Given the description of an element on the screen output the (x, y) to click on. 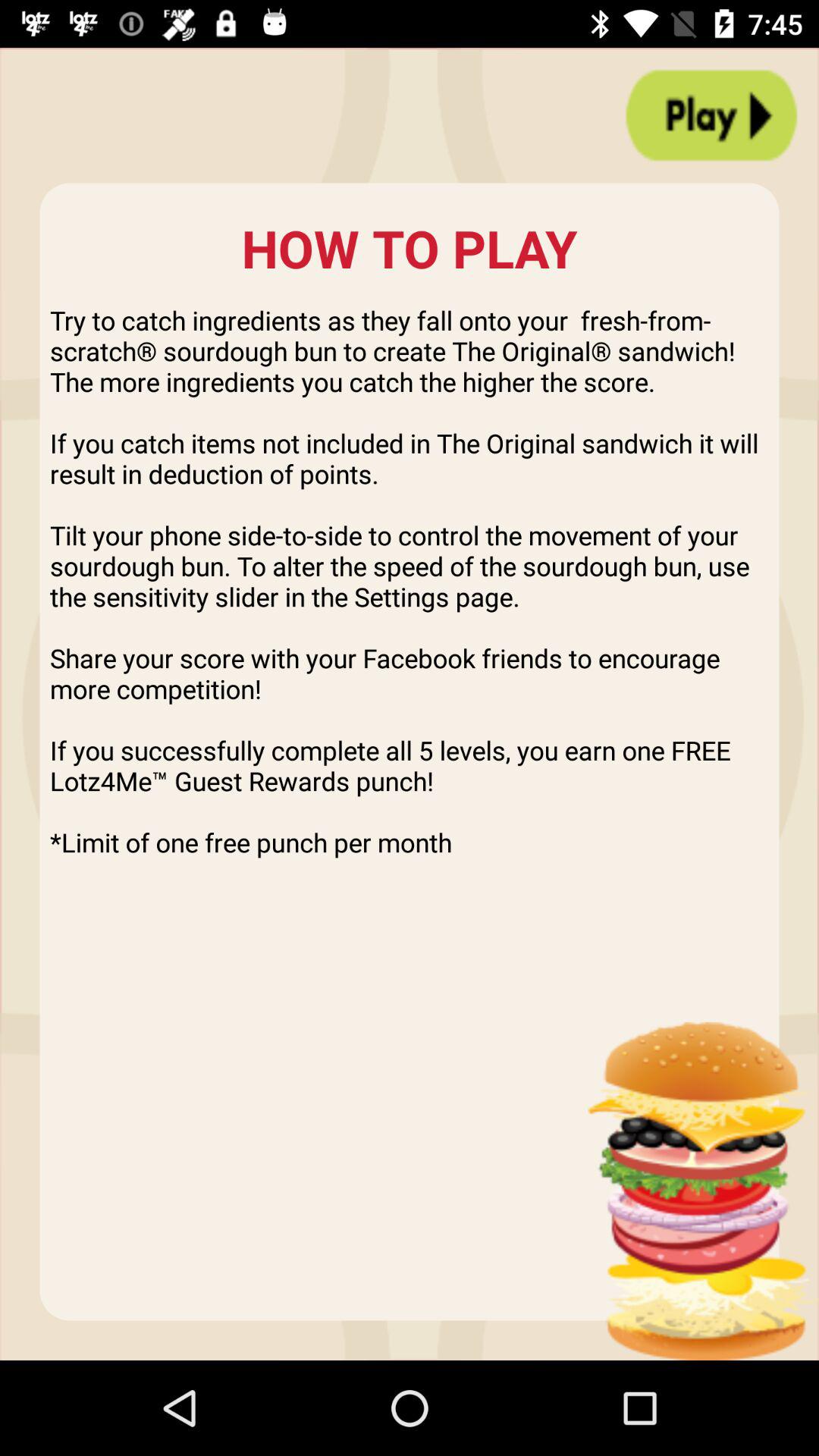
click the button at the top right corner (711, 115)
